Given the description of an element on the screen output the (x, y) to click on. 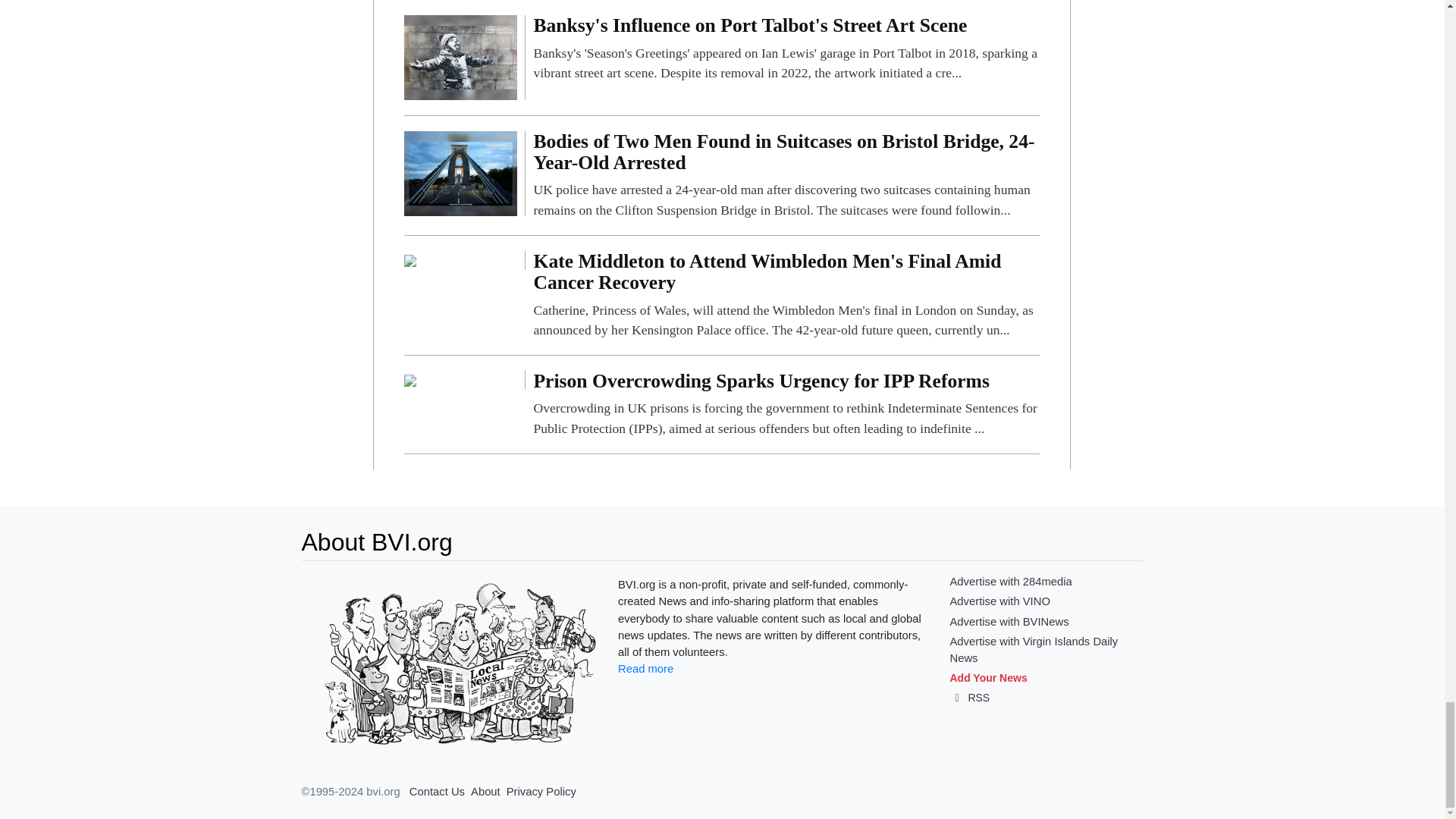
Banksy's Influence on Port Talbot's Street Art Scene (460, 56)
Banksy's Influence on Port Talbot's Street Art Scene (785, 48)
